Given the description of an element on the screen output the (x, y) to click on. 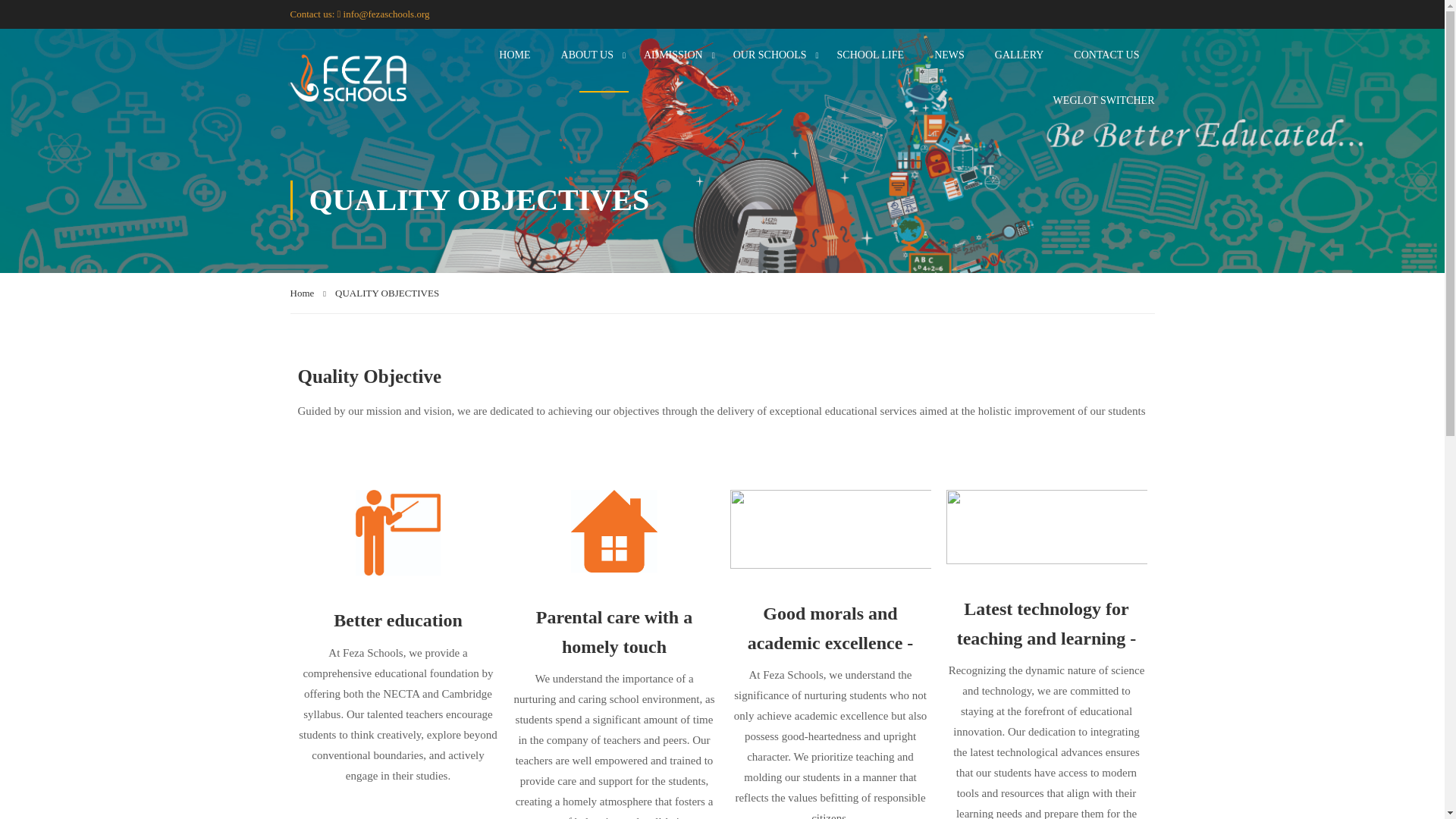
ABOUT US (587, 54)
Feza Schools - Feza Schools (347, 77)
HOME (513, 54)
ADMISSION (672, 54)
OUR SCHOOLS (769, 54)
